Given the description of an element on the screen output the (x, y) to click on. 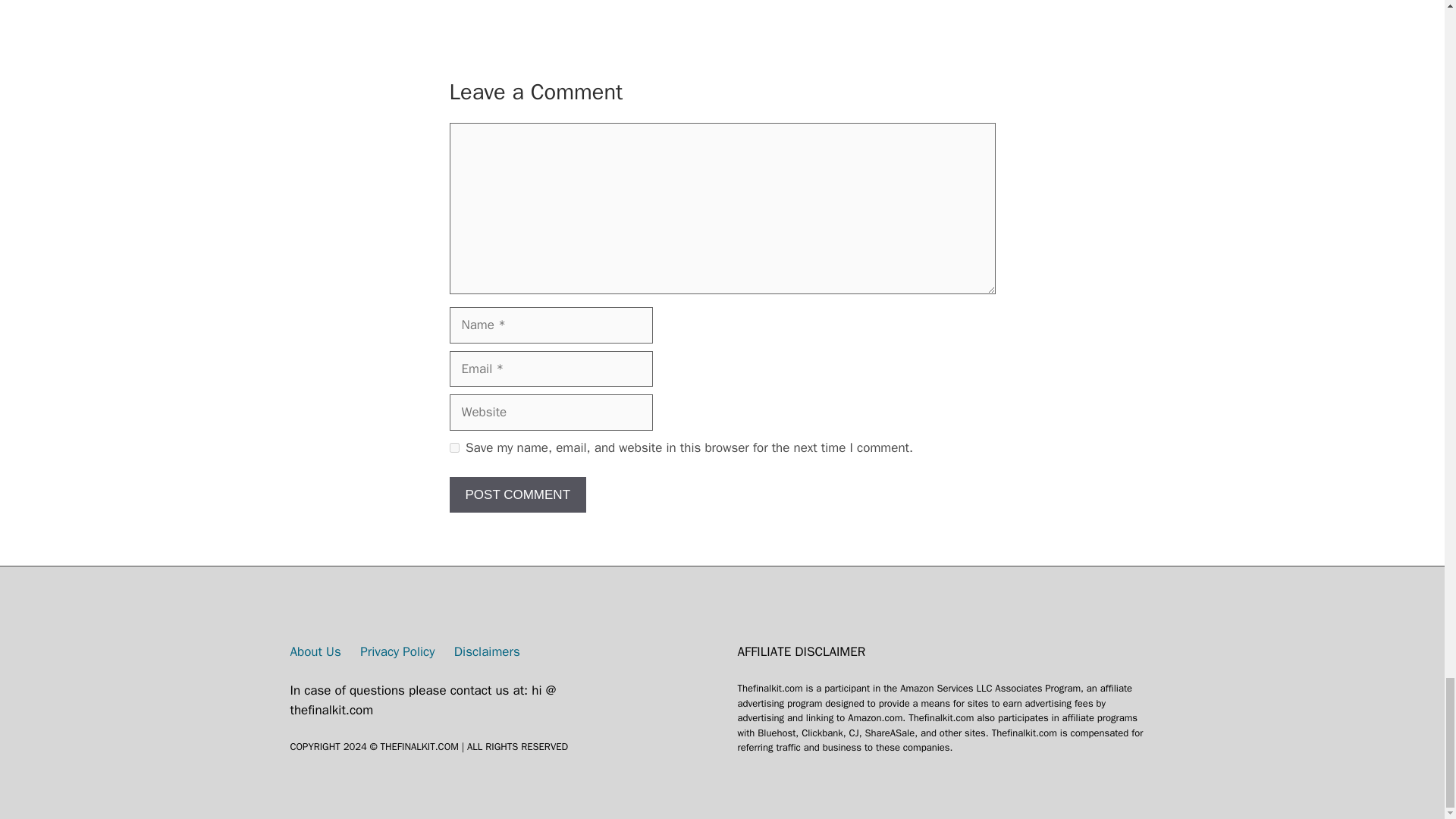
Post Comment (517, 494)
Post Comment (517, 494)
About Us (314, 651)
Disclaimers (486, 651)
Privacy Policy (396, 651)
yes (453, 447)
